Given the description of an element on the screen output the (x, y) to click on. 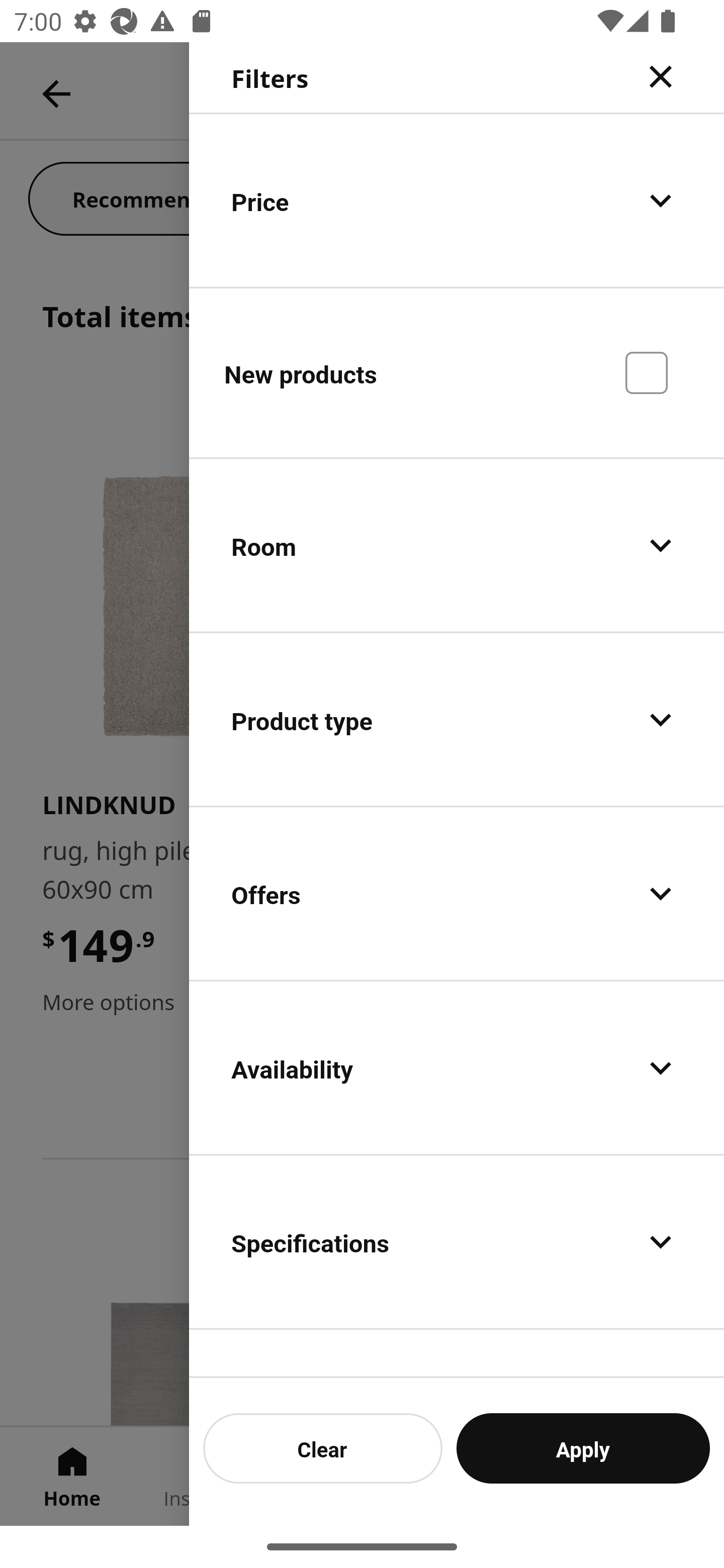
Price (456, 200)
New products (456, 371)
Room (456, 545)
Product type (456, 719)
Offers (456, 893)
Availability (456, 1067)
Specifications (456, 1241)
Clear (322, 1447)
Apply (583, 1447)
